Given the description of an element on the screen output the (x, y) to click on. 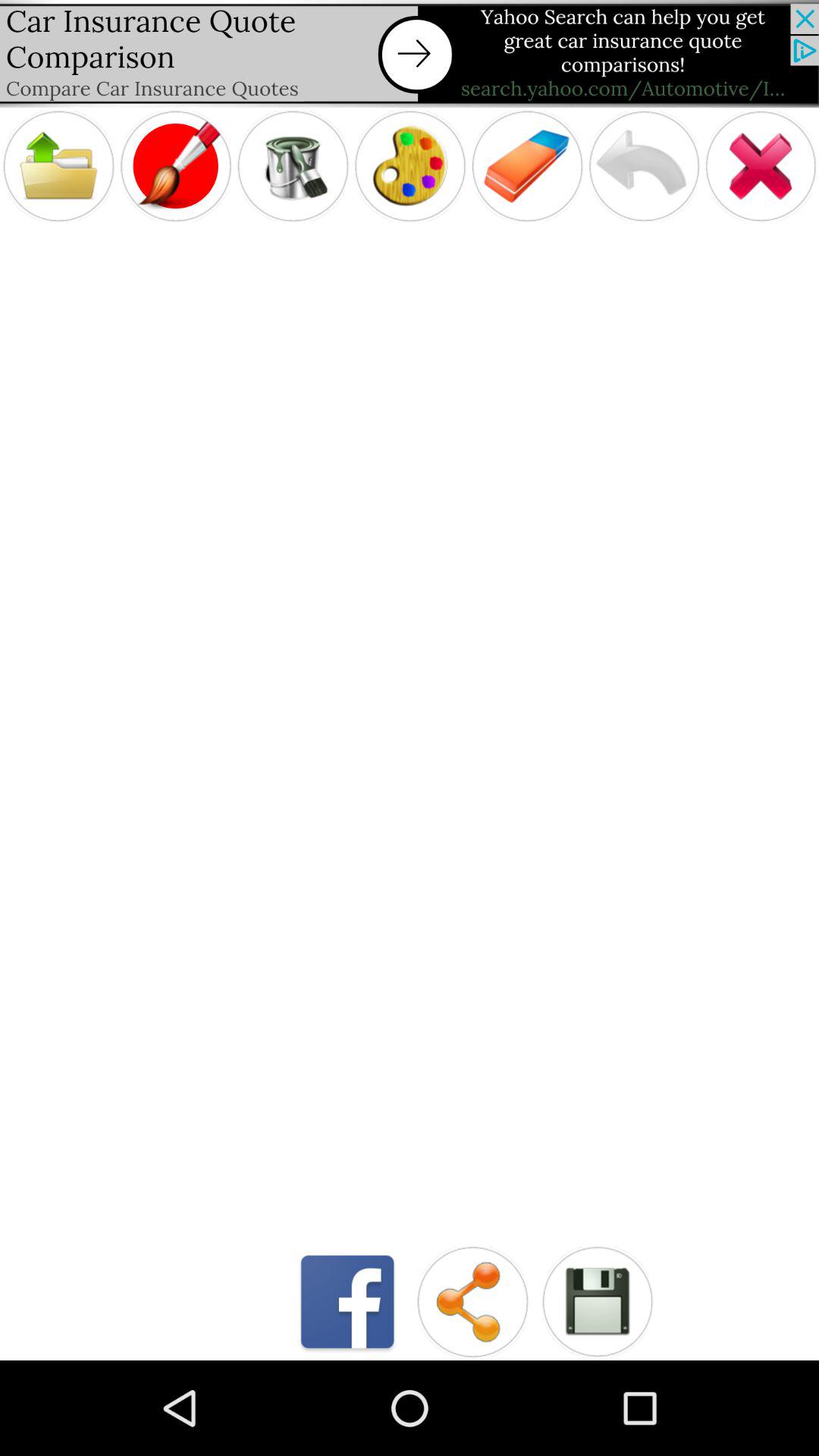
view saved content (597, 1301)
